Given the description of an element on the screen output the (x, y) to click on. 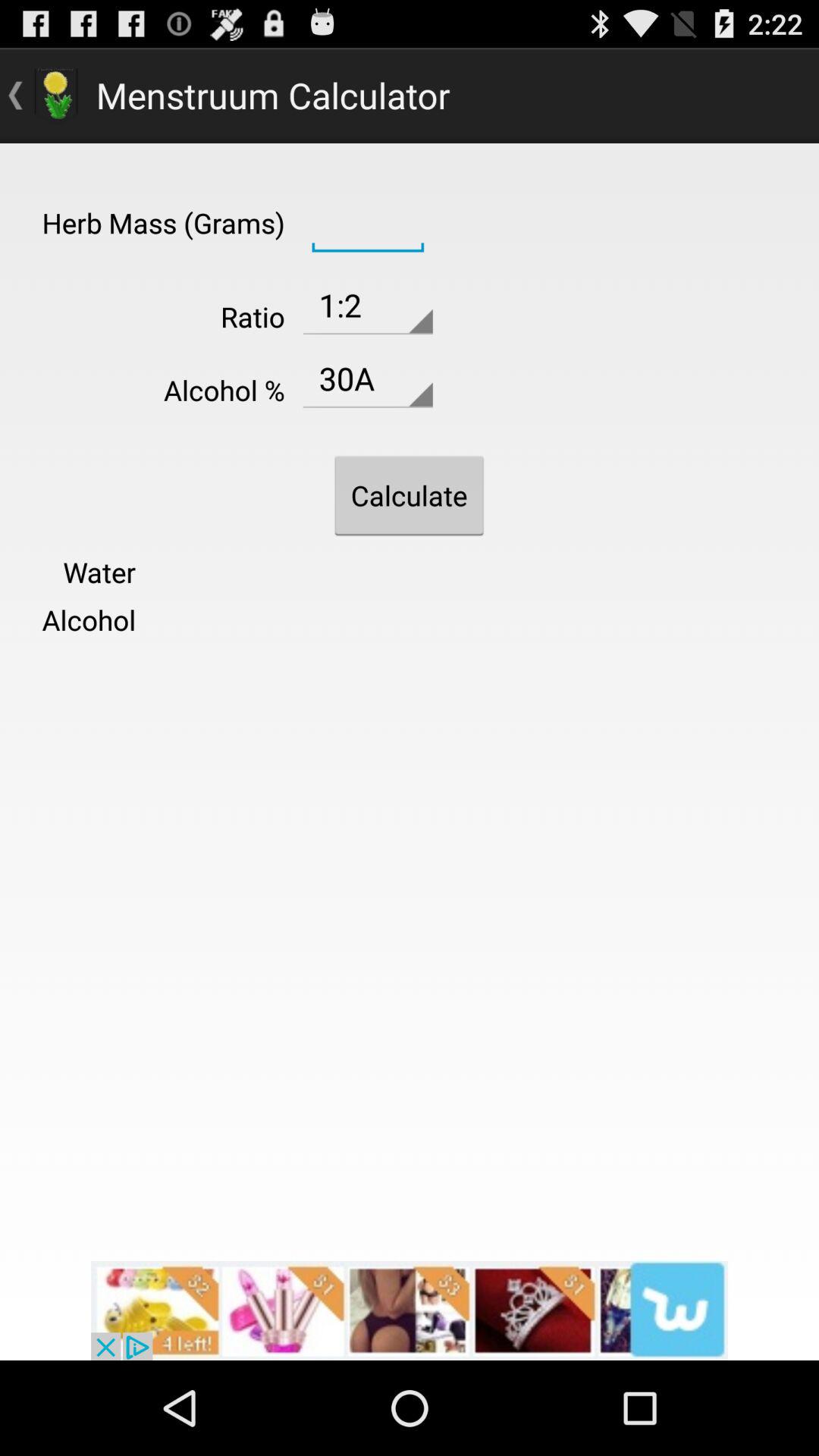
input herb mass in grams (367, 221)
